Given the description of an element on the screen output the (x, y) to click on. 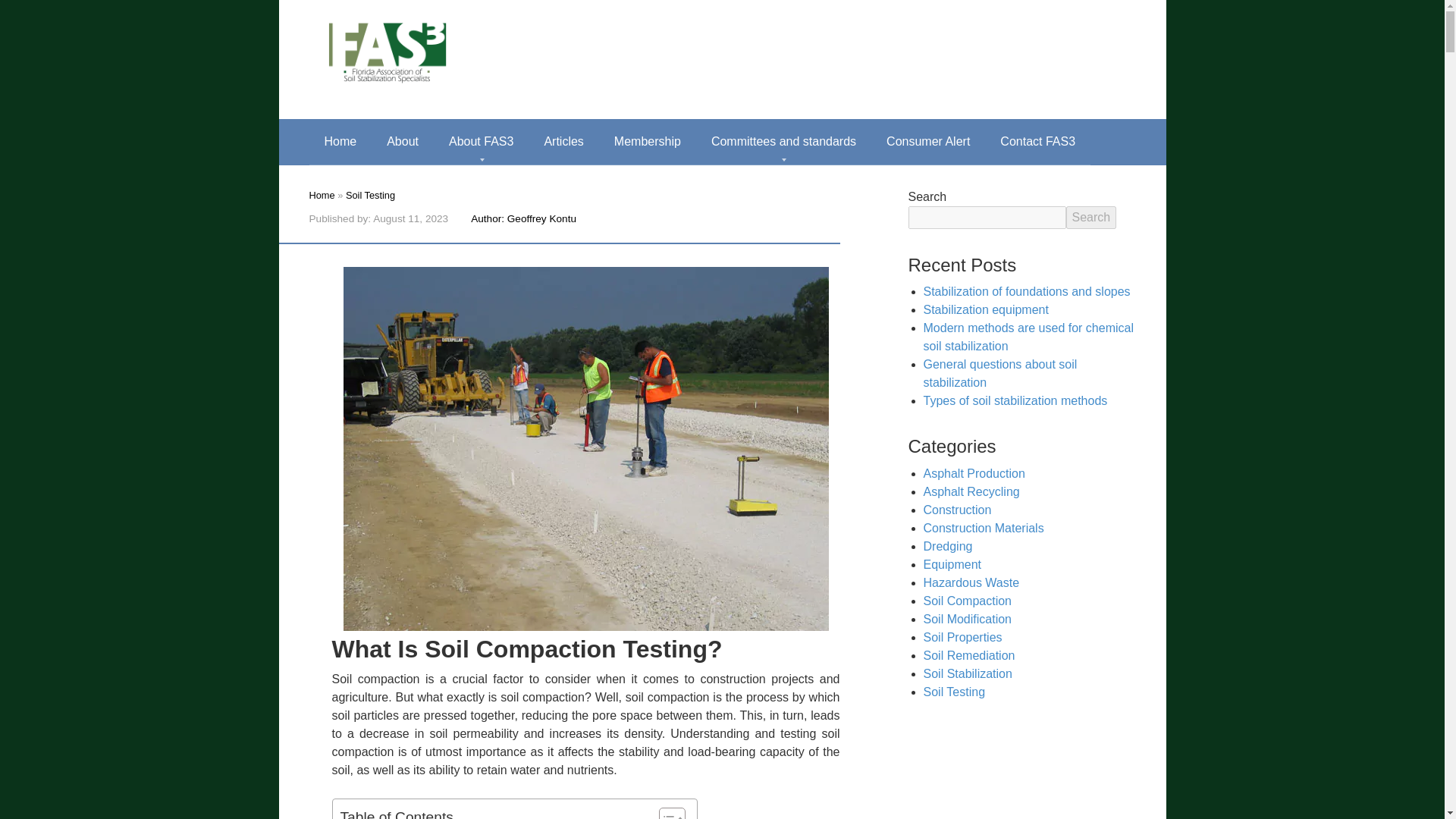
Soil Testing (370, 194)
Committees and standards (782, 141)
About FAS3 (480, 141)
Membership (646, 141)
Articles (563, 141)
About (402, 141)
Home (340, 141)
Consumer Alert (927, 141)
Home (321, 194)
